Given the description of an element on the screen output the (x, y) to click on. 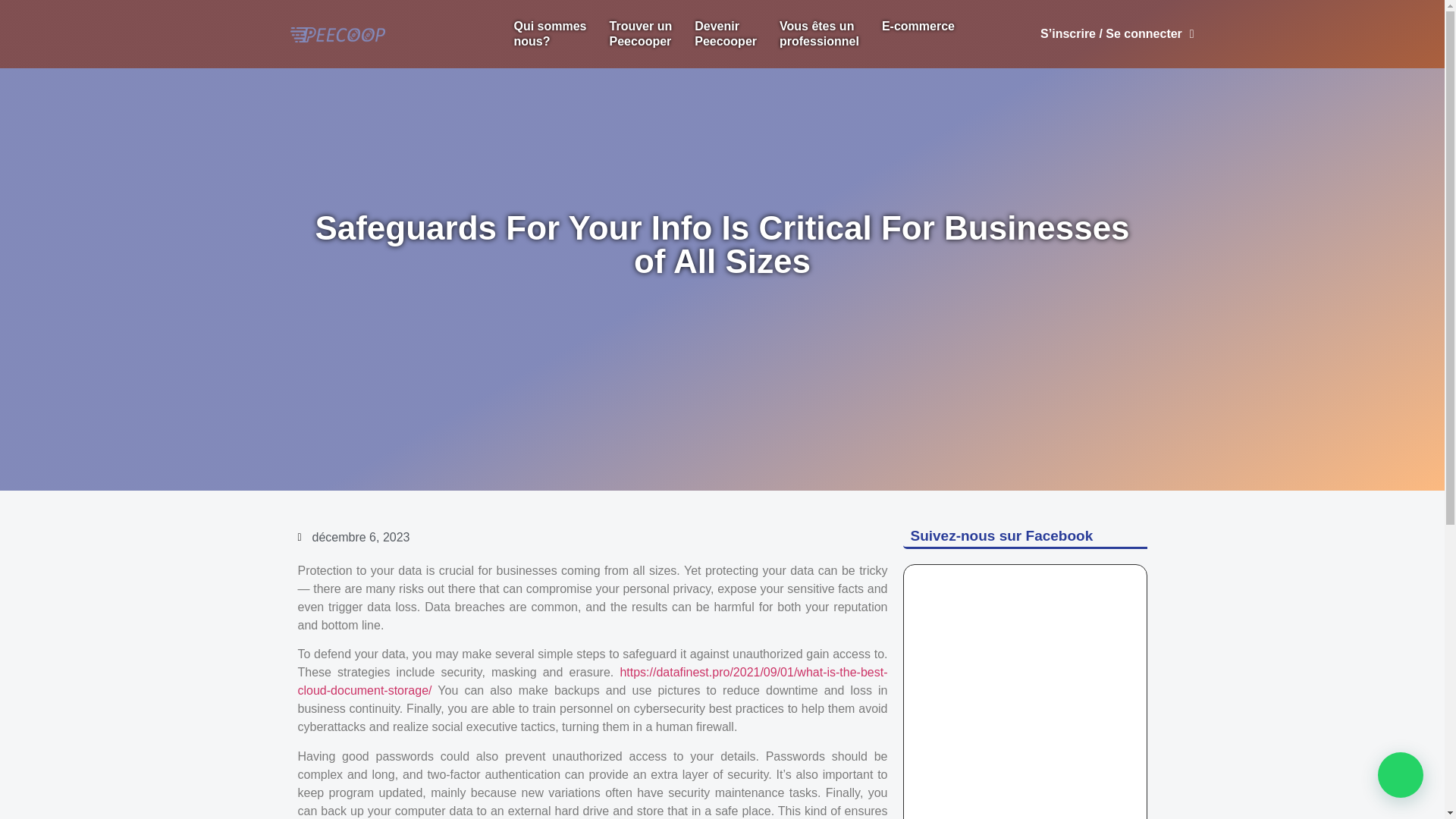
E-commerce (918, 26)
